Given the description of an element on the screen output the (x, y) to click on. 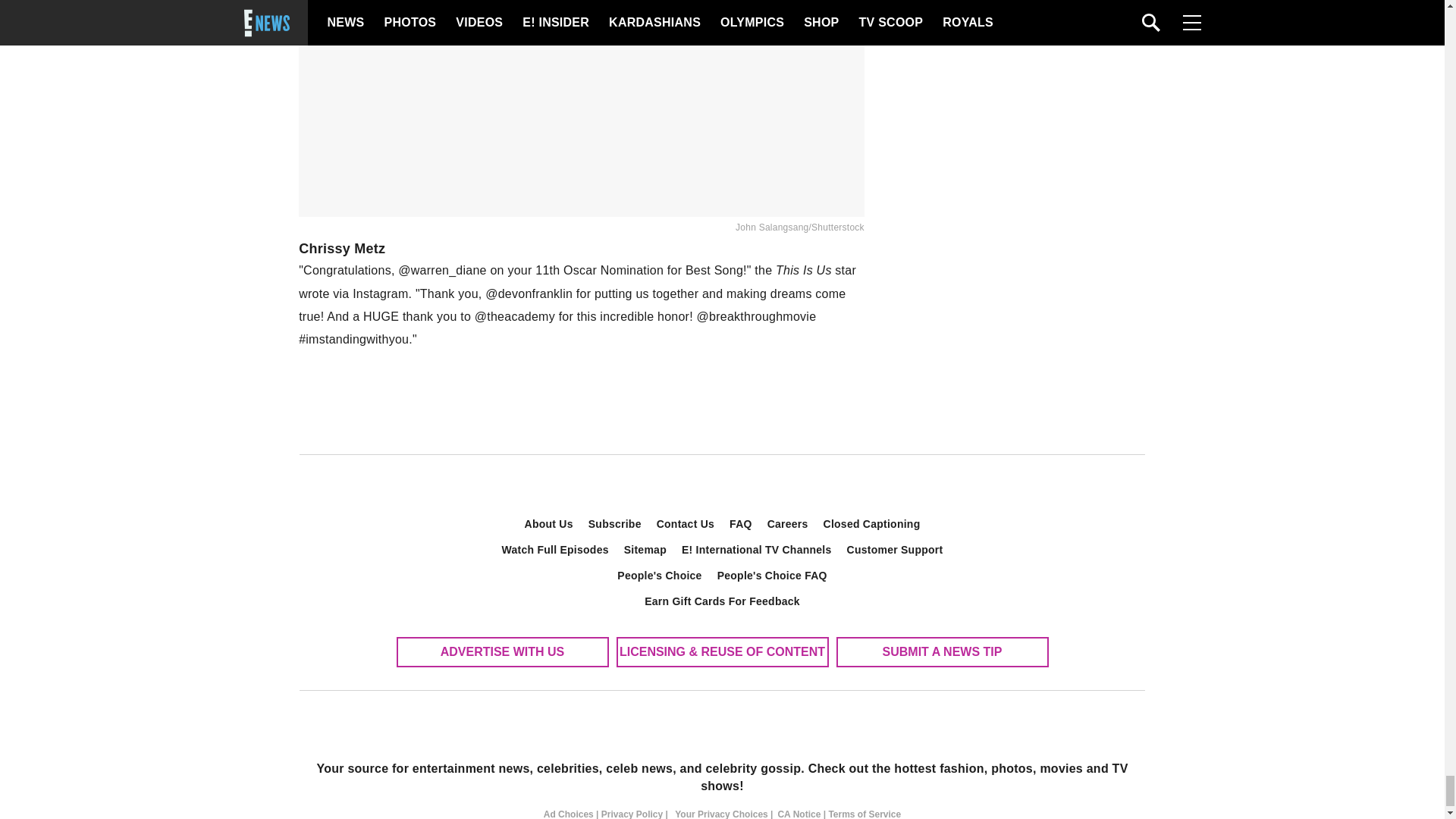
Contact Us (685, 524)
Closed Captioning (871, 524)
FAQ (741, 524)
About Us (548, 524)
Careers (787, 524)
Subscribe (614, 524)
